Given the description of an element on the screen output the (x, y) to click on. 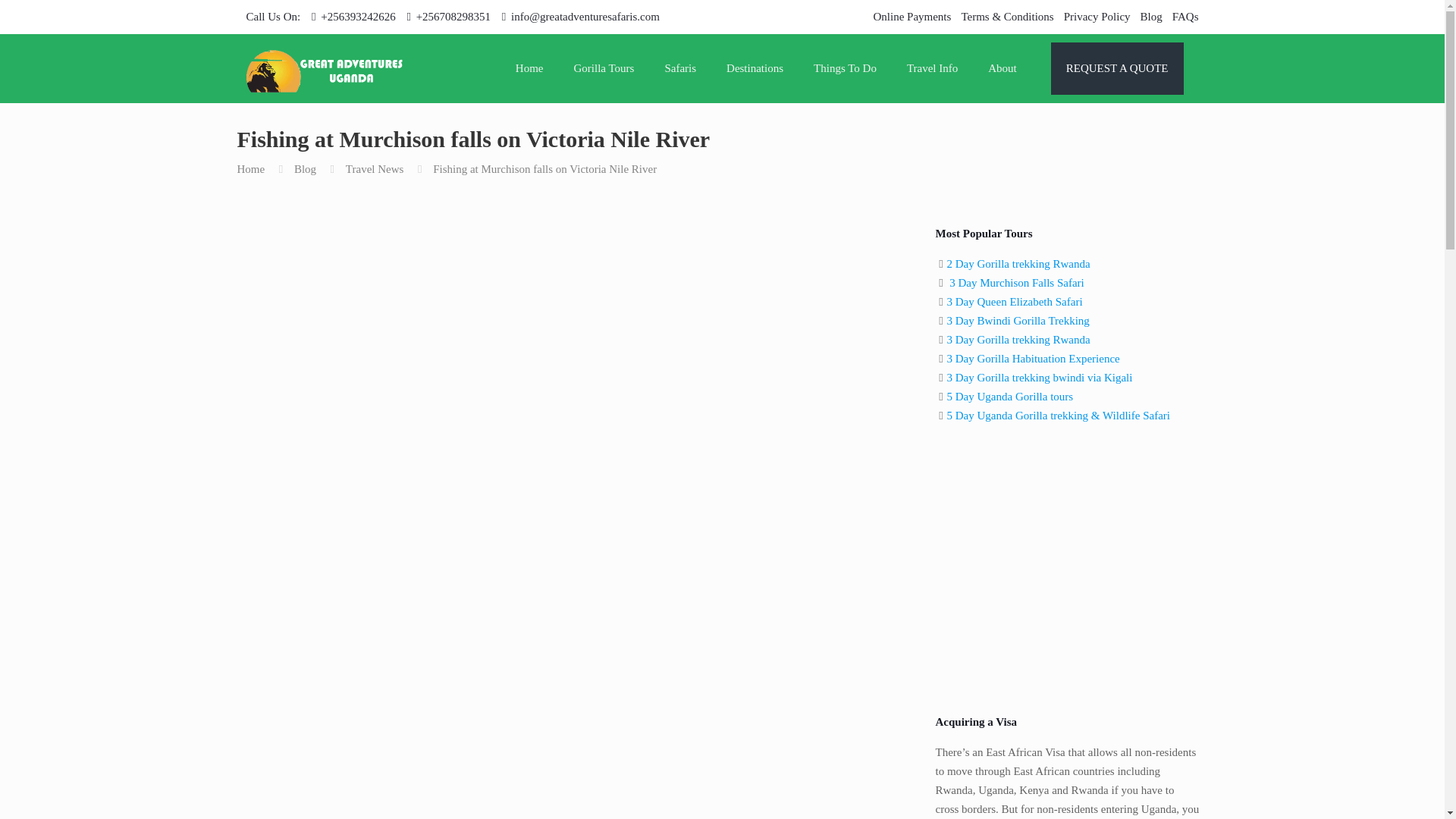
FAQs (1185, 16)
Destinations (754, 68)
Blog (1150, 16)
Safaris (680, 68)
Privacy Policy (1097, 16)
Online Payments (911, 16)
Gorilla Tours (603, 68)
Great Adventures Safaris (324, 68)
